Given the description of an element on the screen output the (x, y) to click on. 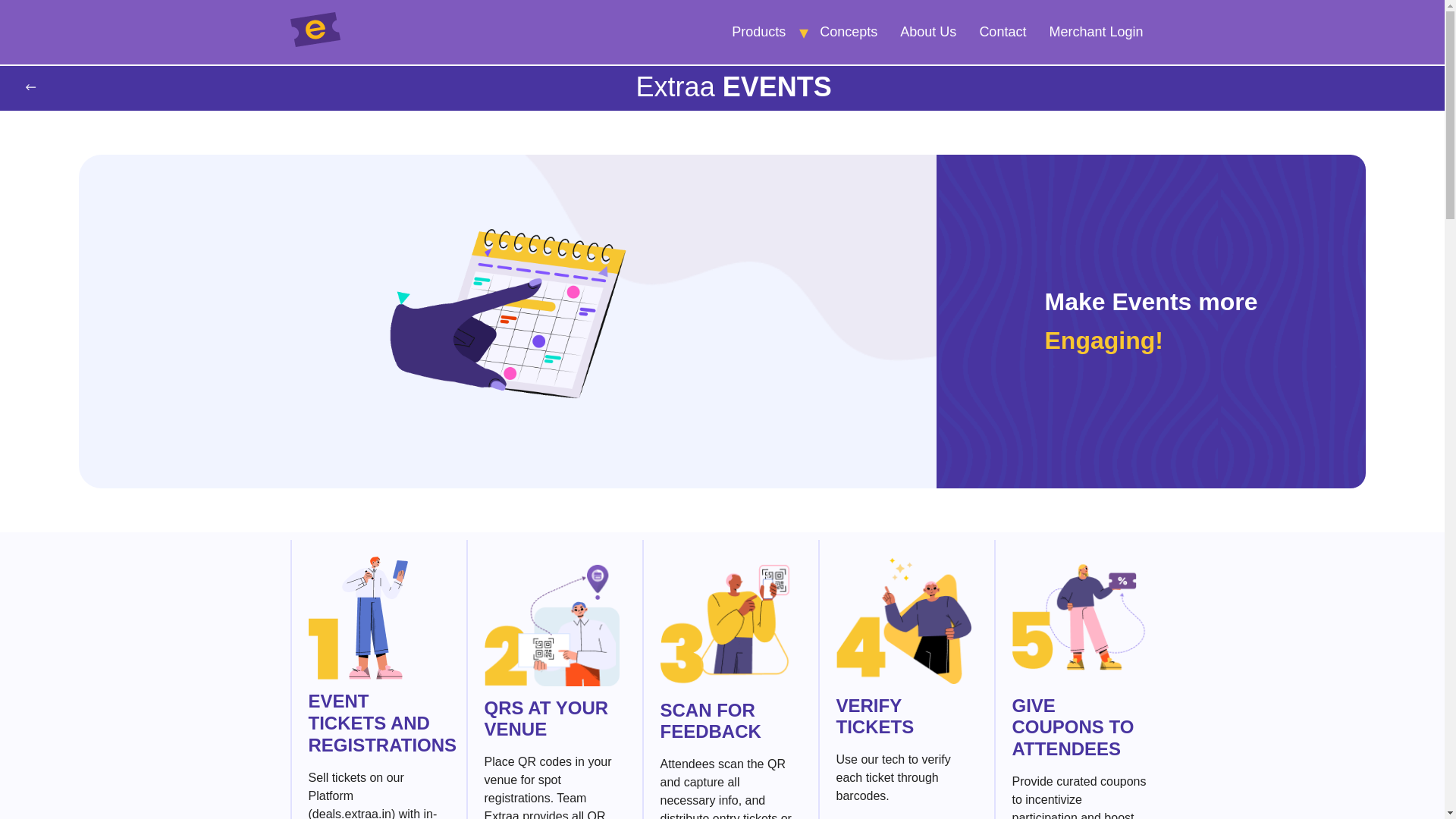
About Us (928, 31)
Contact (1002, 31)
Concepts (848, 31)
Products (758, 31)
Merchant Login (1095, 31)
